Given the description of an element on the screen output the (x, y) to click on. 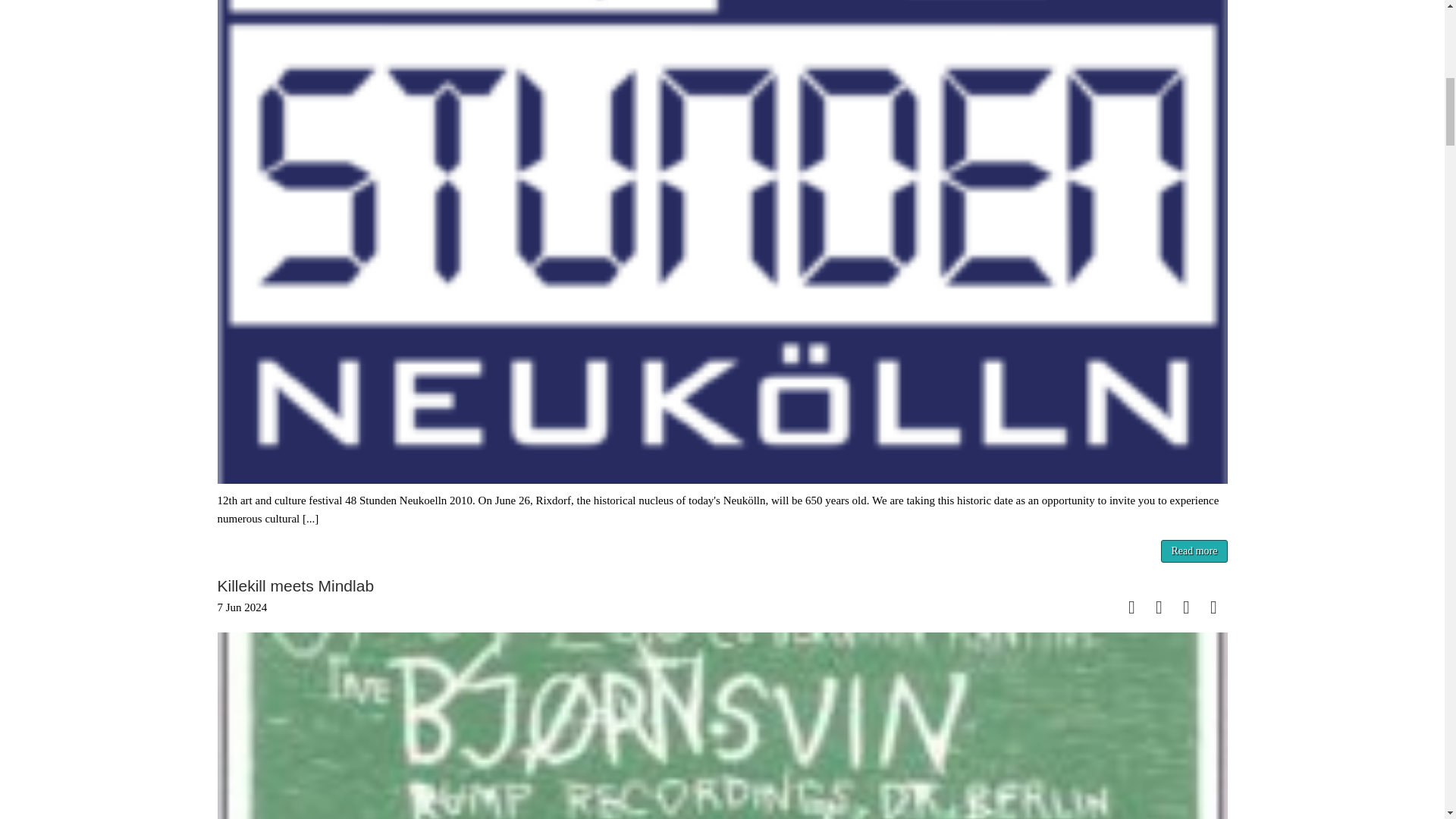
Killekill meets Mindlab (295, 585)
Read more (1193, 550)
